Given the description of an element on the screen output the (x, y) to click on. 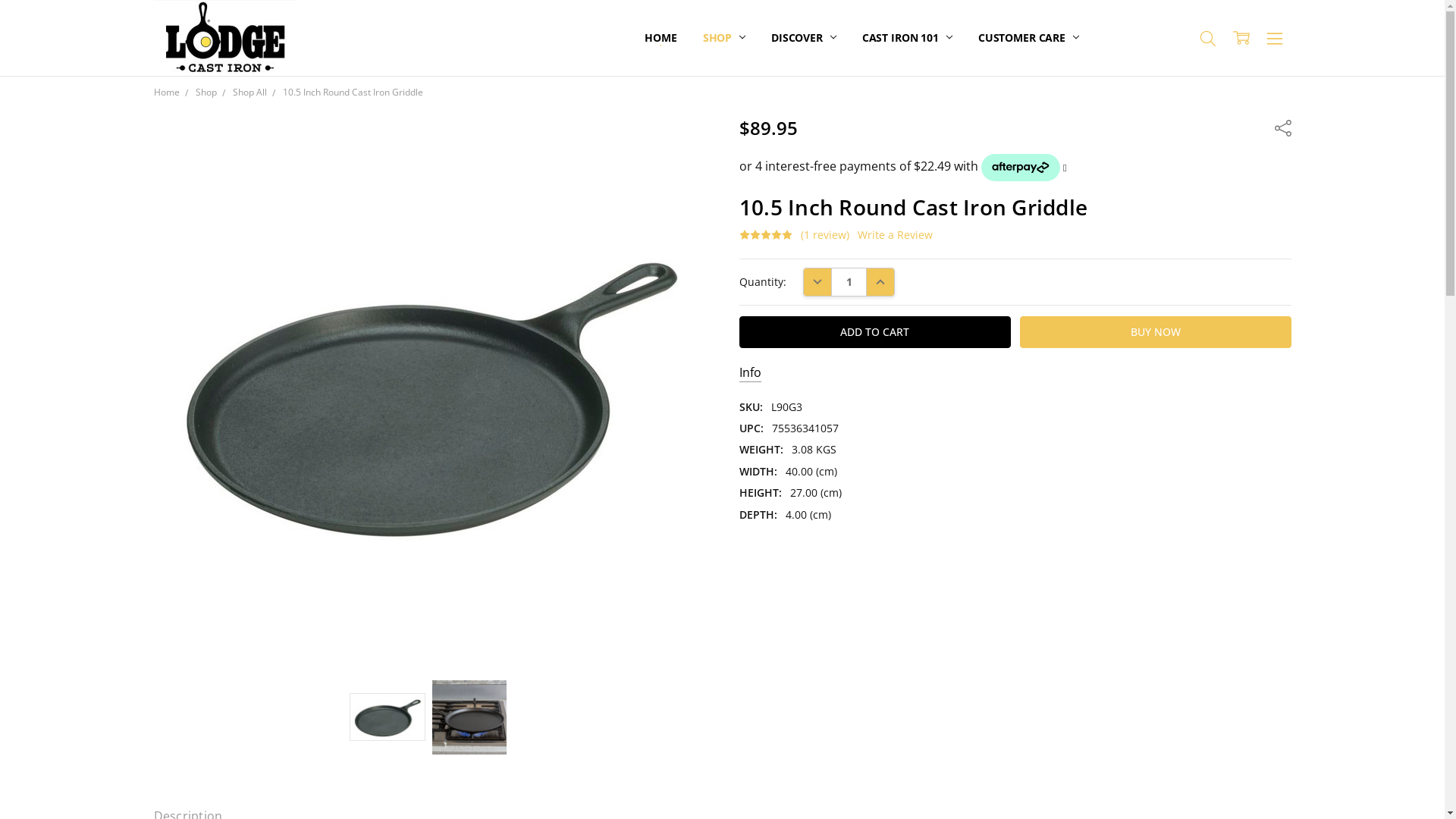
Info Element type: text (750, 373)
(1 review) Element type: text (824, 235)
10.5 Inch Round Cast Iron Griddle Element type: hover (469, 717)
SHOP Element type: text (724, 37)
Add to Cart Element type: text (874, 332)
DISCOVER Element type: text (803, 37)
Shop Element type: text (205, 91)
INCREASE QUANTITY: Element type: text (880, 281)
CUSTOMER CARE Element type: text (1028, 37)
Write a Review Element type: text (894, 235)
Shop All Element type: text (249, 91)
10.5 Inch Round Cast Iron Griddle Element type: hover (429, 392)
Buy Now Element type: text (1155, 332)
10.5 Inch Round Cast Iron Griddle Element type: text (352, 91)
Show All Element type: hover (652, 37)
10.5 Inch Round Cast Iron Griddle Element type: hover (387, 716)
Home Element type: text (165, 91)
Share Element type: text (1282, 126)
CAST IRON 101 Element type: text (907, 37)
DECREASE QUANTITY: Element type: text (817, 281)
HOME Element type: text (660, 37)
Lodge Cookware Element type: hover (223, 37)
